Given the description of an element on the screen output the (x, y) to click on. 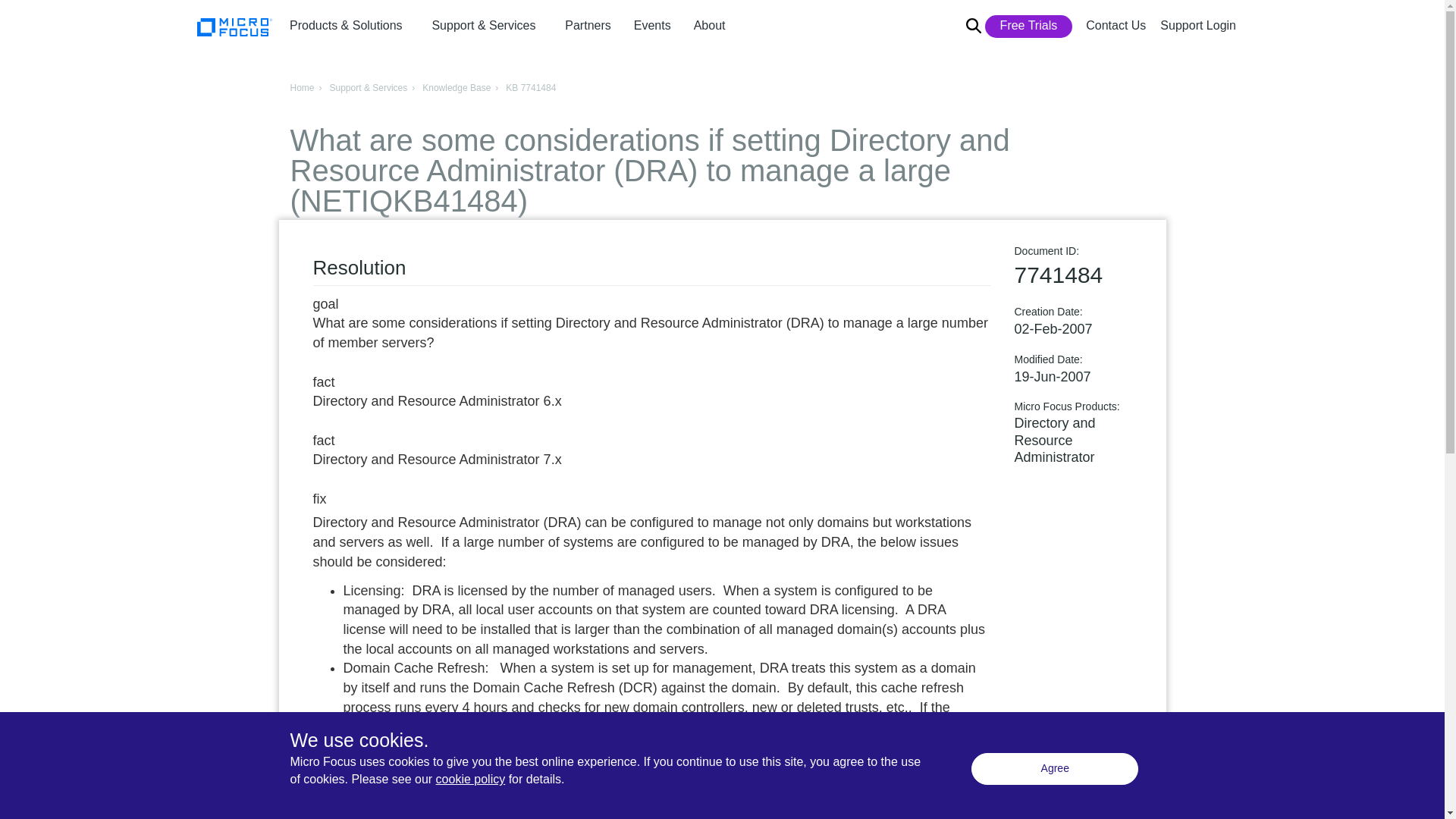
cookie policy (470, 779)
Agree (1054, 768)
